Given the description of an element on the screen output the (x, y) to click on. 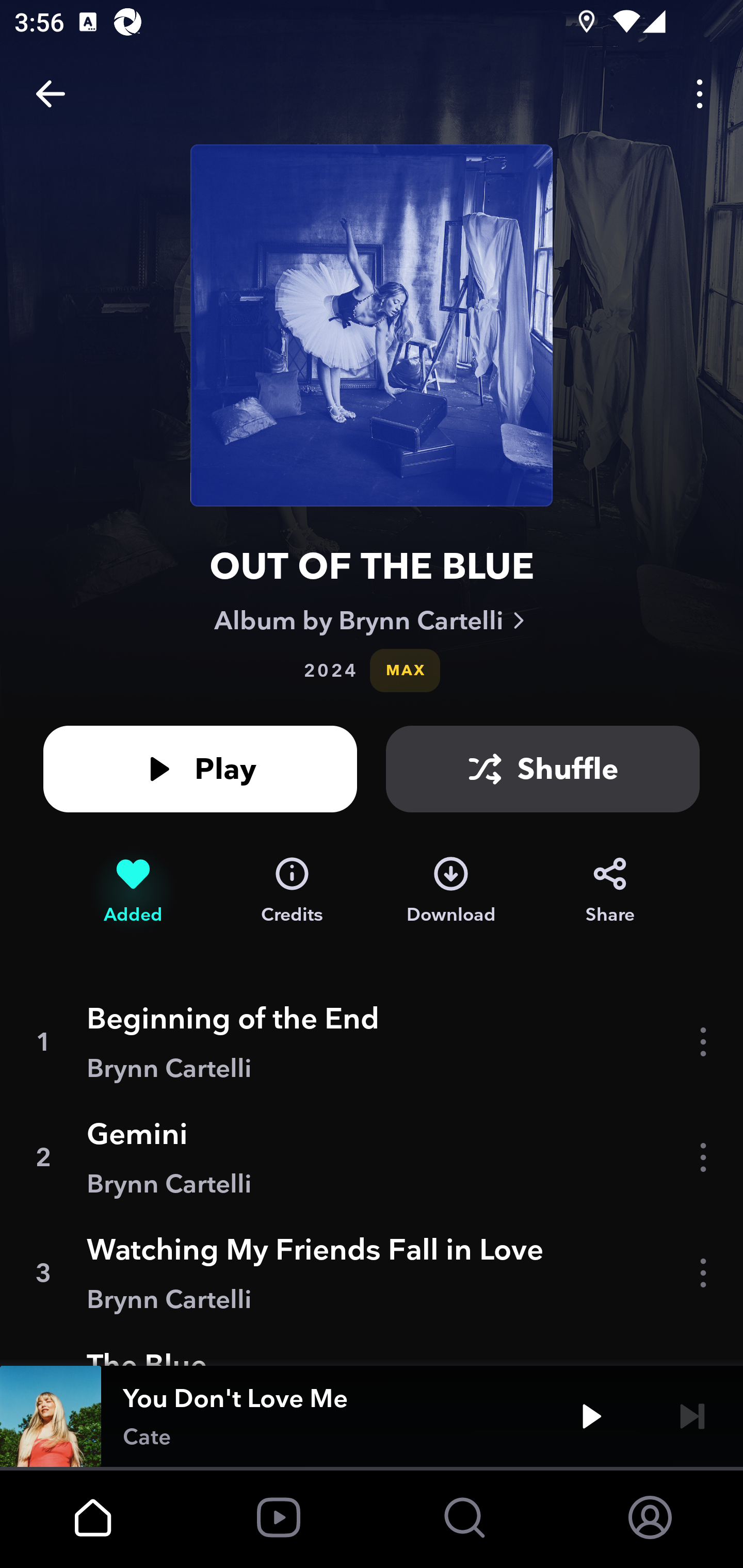
Options (699, 93)
OUT OF THE BLUE (371, 565)
Album by Brynn Cartelli (371, 619)
Play (200, 768)
Shuffle (542, 768)
Remove from My Collection Added (132, 890)
Credits (291, 890)
Download (450, 890)
Share (609, 890)
1 Beginning of the End Brynn Cartelli (371, 1041)
2 Gemini Brynn Cartelli (371, 1157)
3 Watching My Friends Fall in Love Brynn Cartelli (371, 1273)
You Don't Love Me Cate Play (371, 1416)
Play (590, 1416)
